Given the description of an element on the screen output the (x, y) to click on. 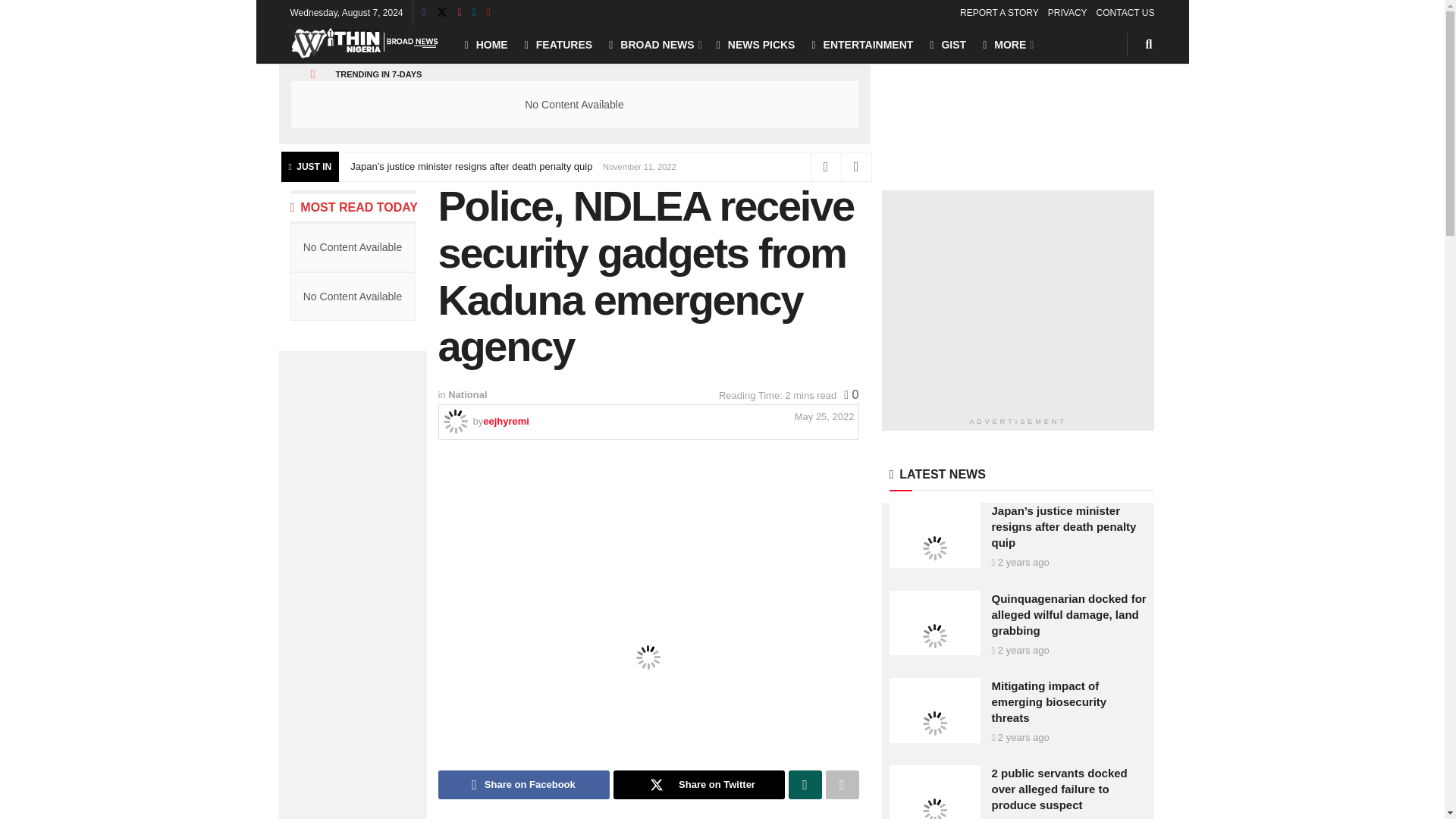
ENTERTAINMENT (861, 44)
BROAD NEWS (653, 44)
NEWS PICKS (755, 44)
PRIVACY (1067, 12)
REPORT A STORY (999, 12)
HOME (485, 44)
FEATURES (558, 44)
MORE (1006, 44)
GIST (948, 44)
CONTACT US (1125, 12)
